Given the description of an element on the screen output the (x, y) to click on. 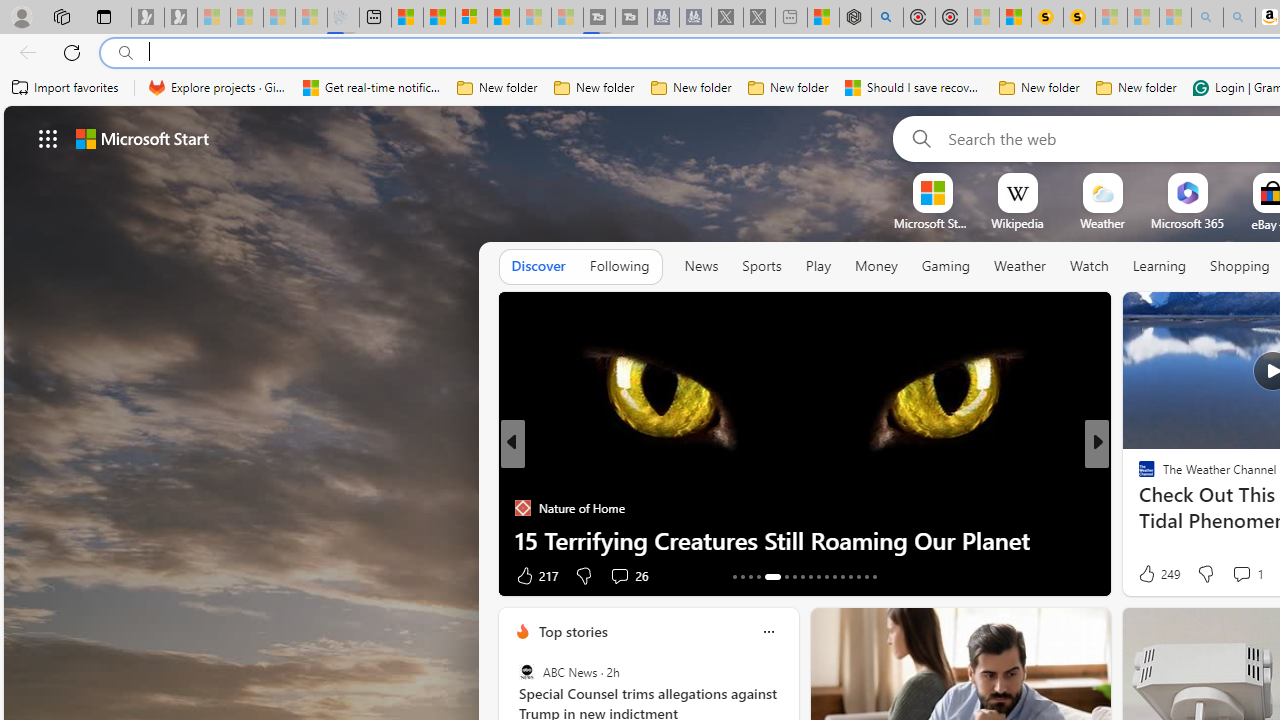
View comments 2 Comment (1228, 574)
FinanceBuzz (1138, 475)
Shopping (1240, 265)
AutomationID: tab-18 (786, 576)
AutomationID: tab-26 (850, 576)
AutomationID: tab-21 (810, 576)
AutomationID: tab-15 (750, 576)
32 Like (1149, 574)
